Given the description of an element on the screen output the (x, y) to click on. 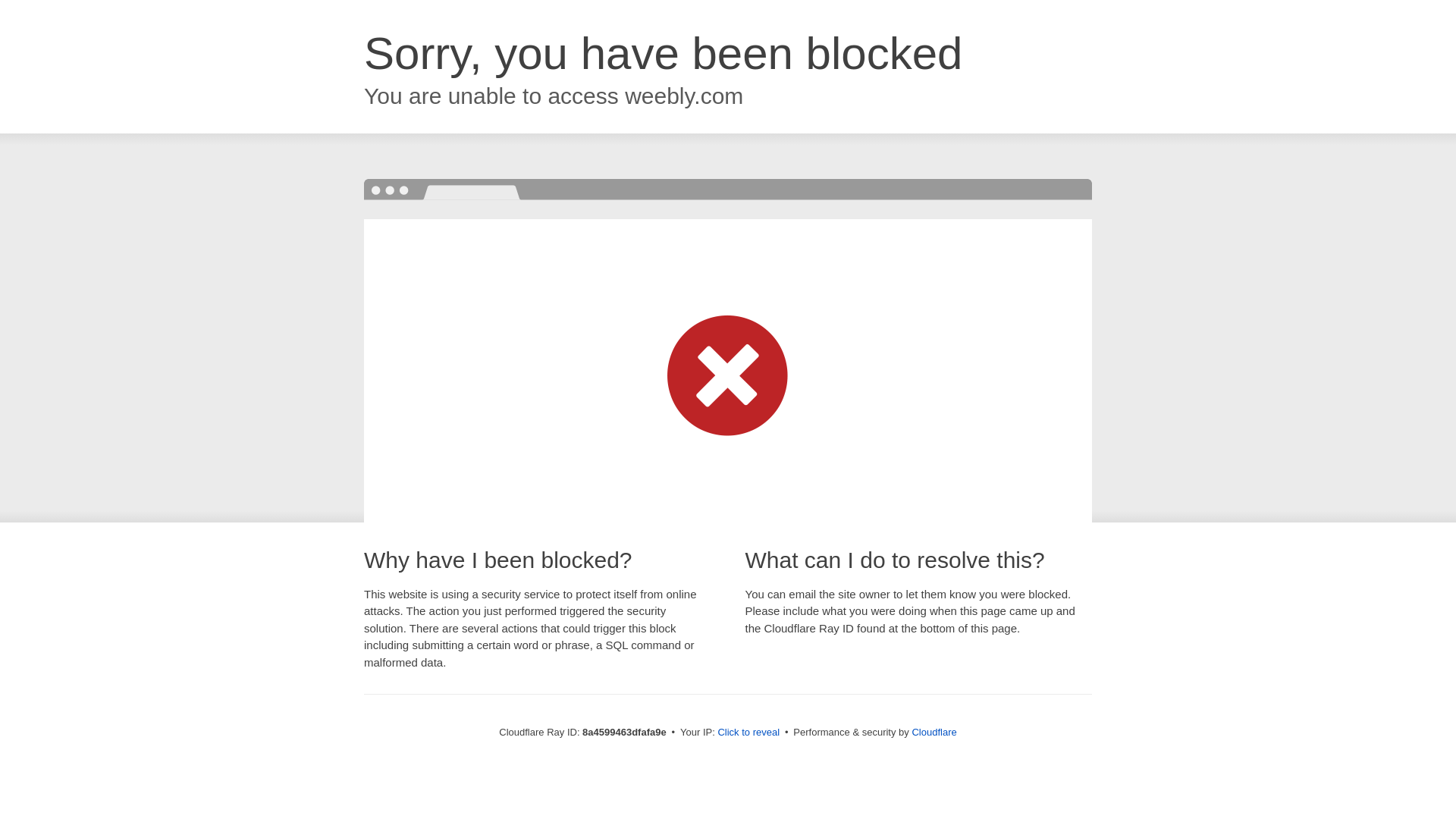
Cloudflare (933, 731)
Click to reveal (747, 732)
